Given the description of an element on the screen output the (x, y) to click on. 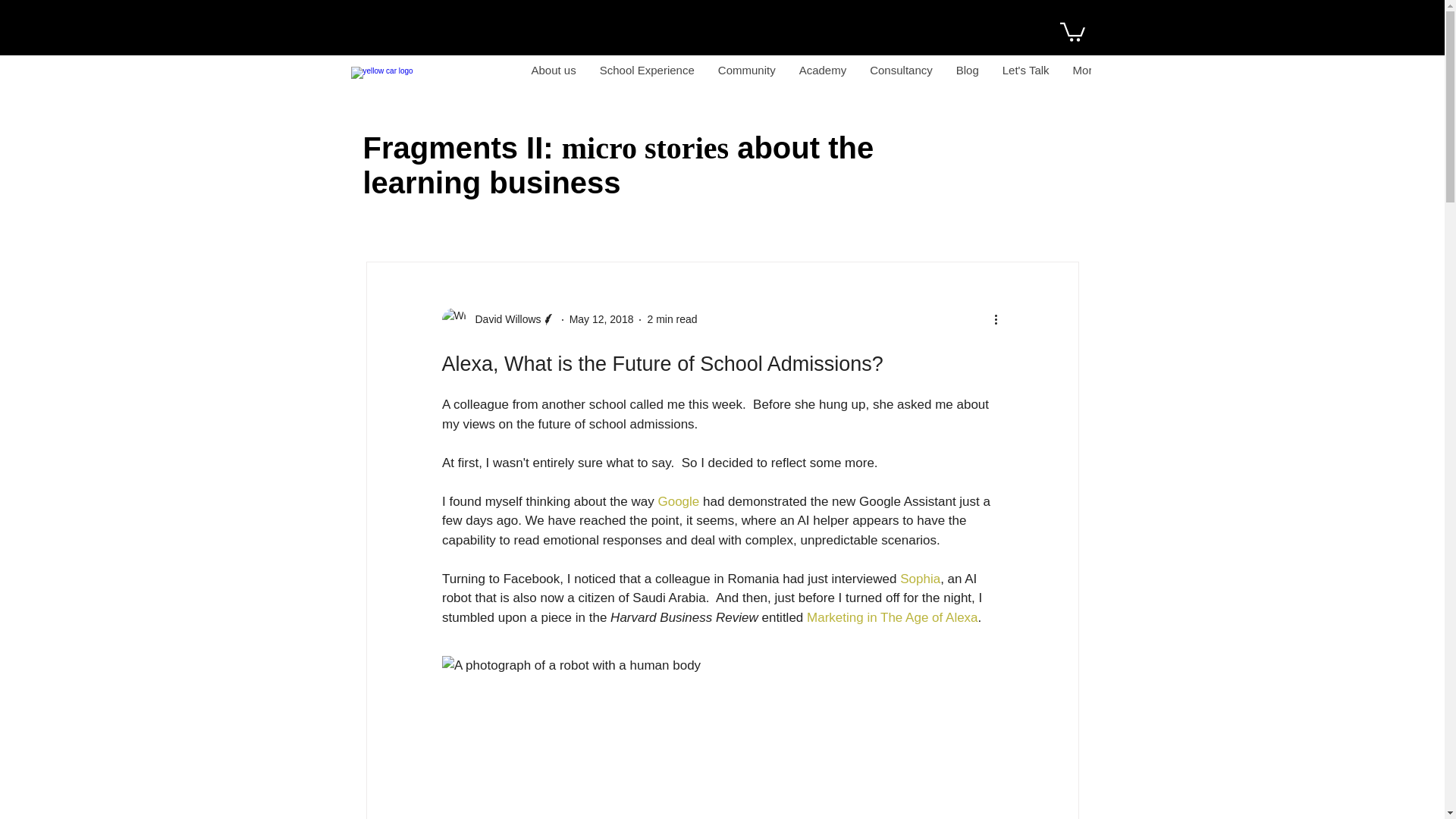
2 min read (671, 318)
Community (746, 76)
About us (553, 76)
Let's Talk (1025, 76)
Google (678, 500)
Marketing in The Age of Alexa (892, 616)
School Experience (647, 76)
Academy (823, 76)
May 12, 2018 (601, 318)
David Willows (497, 319)
